Given the description of an element on the screen output the (x, y) to click on. 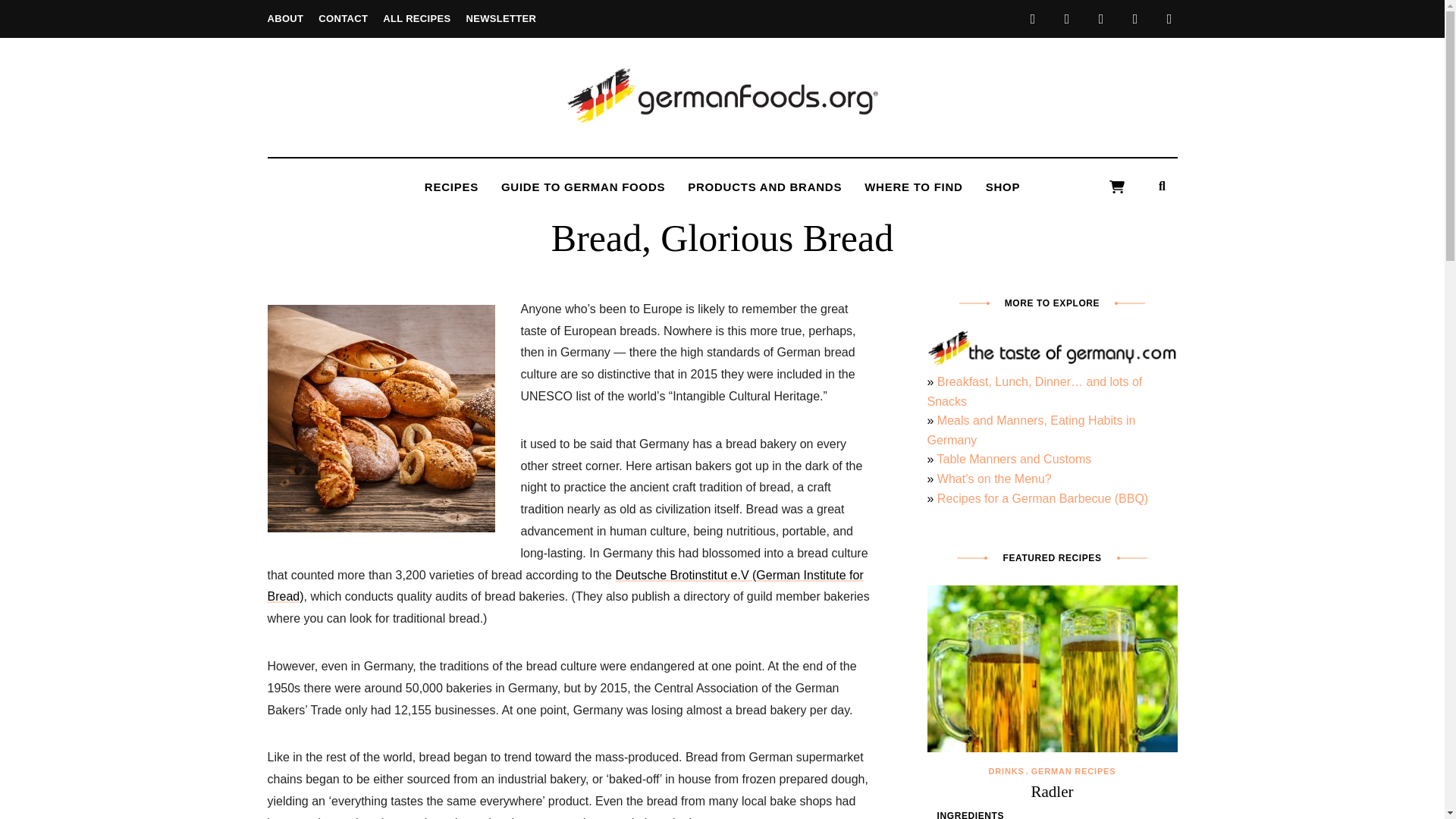
NEWSLETTER (500, 18)
GUIDE TO GERMAN FOODS (583, 186)
RECIPES (451, 186)
PRODUCTS AND BRANDS (765, 186)
CONTACT (343, 18)
ABOUT (284, 18)
ALL RECIPES (415, 18)
SHOP (1003, 186)
YouTube (1169, 18)
GERMANFOODS.ORG (785, 147)
Twitter (1066, 18)
Instagram (1101, 18)
Pinterest (1134, 18)
Facebook (1032, 18)
WHERE TO FIND (913, 186)
